Given the description of an element on the screen output the (x, y) to click on. 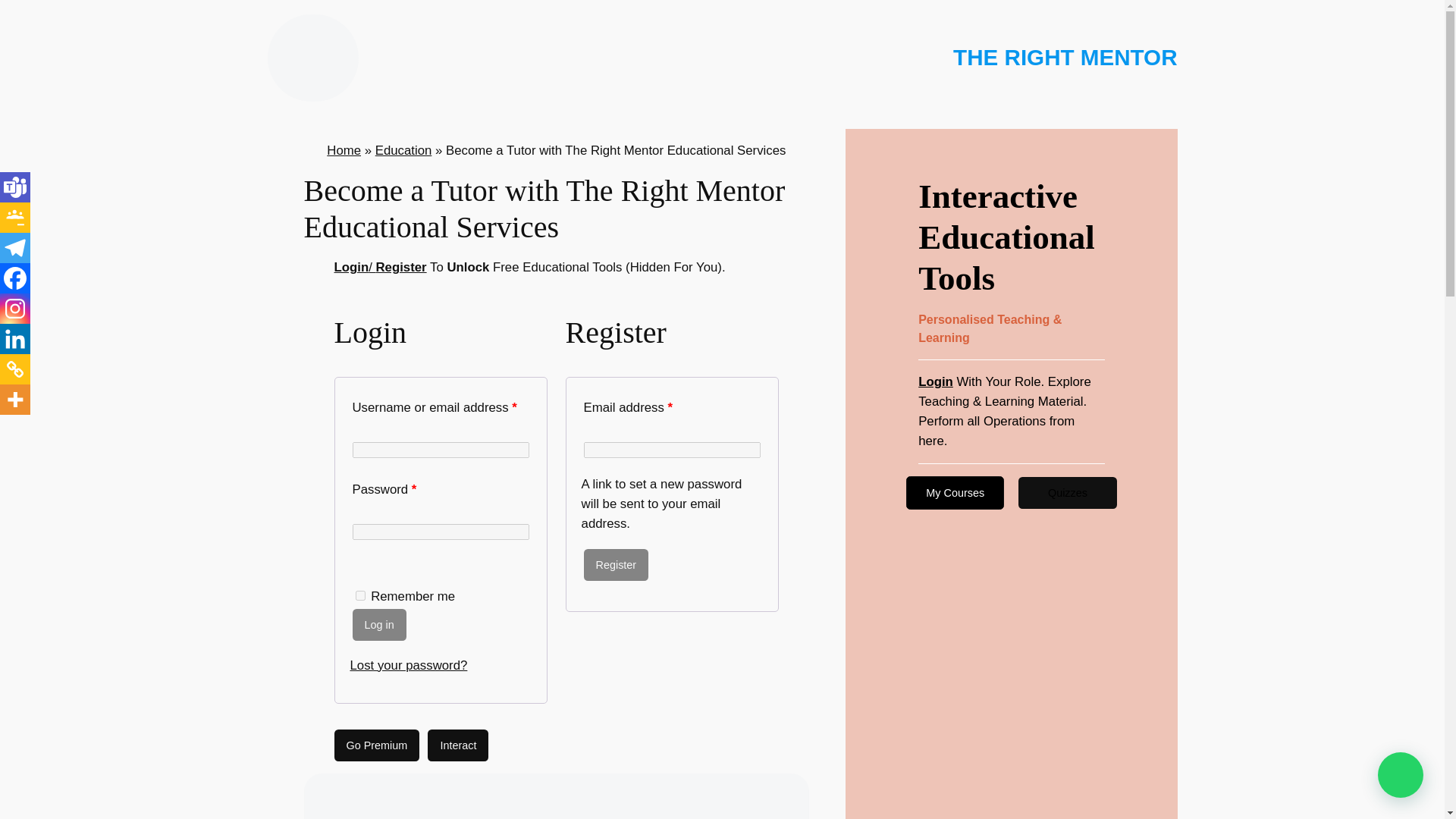
Teams (15, 186)
Go Premium (376, 745)
Facebook (15, 277)
More (15, 399)
Copy Link (15, 368)
Home (343, 150)
Log in (379, 624)
Linkedin (15, 338)
Home (343, 150)
forever (360, 595)
My Courses (954, 492)
Education (403, 150)
Telegram (15, 247)
Instagram (15, 308)
My Account (935, 381)
